Given the description of an element on the screen output the (x, y) to click on. 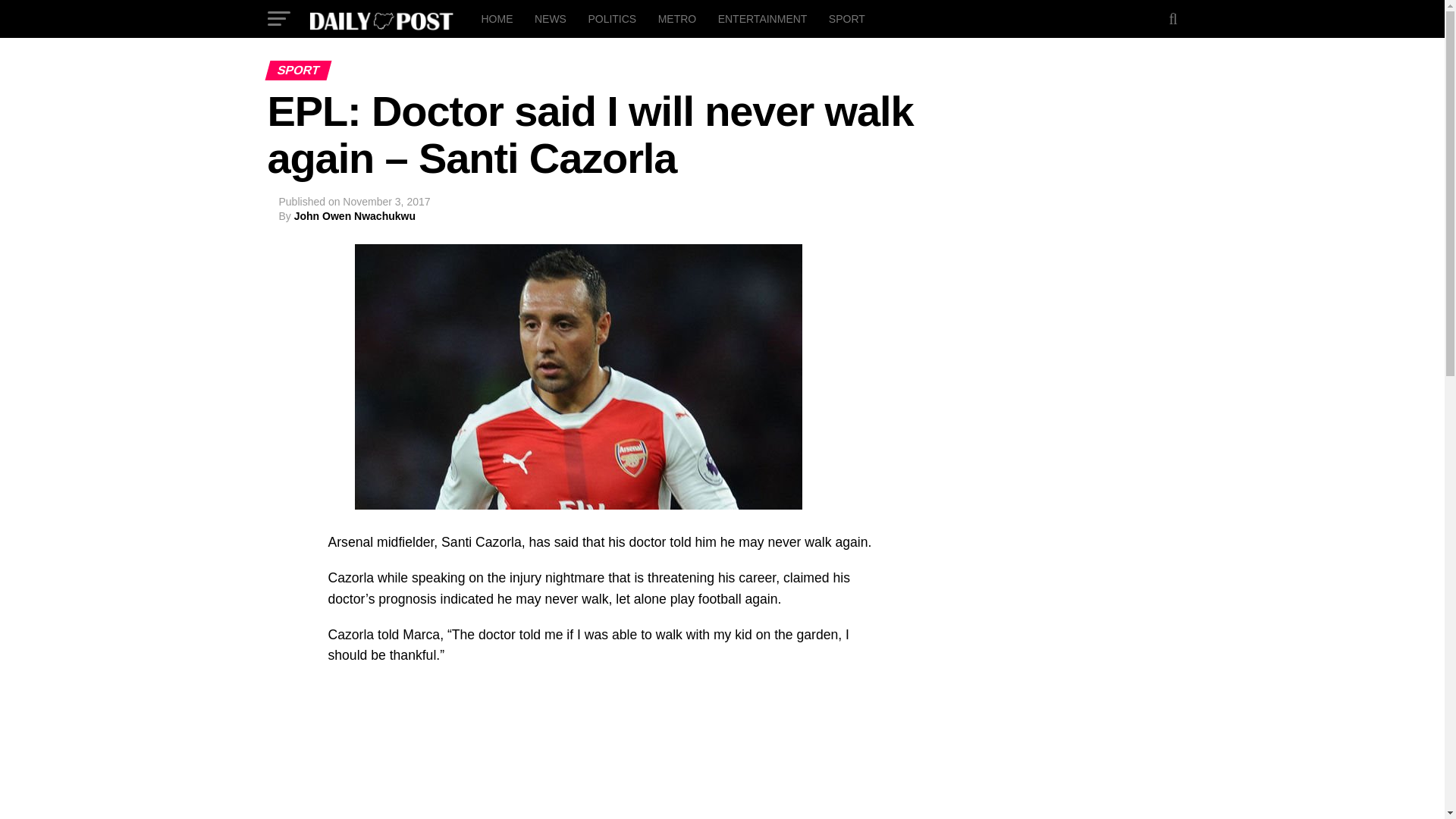
SPORT (847, 18)
METRO (677, 18)
POLITICS (611, 18)
HOME (496, 18)
John Owen Nwachukwu (354, 215)
NEWS (550, 18)
ENTERTAINMENT (762, 18)
Posts by John Owen Nwachukwu (354, 215)
